Given the description of an element on the screen output the (x, y) to click on. 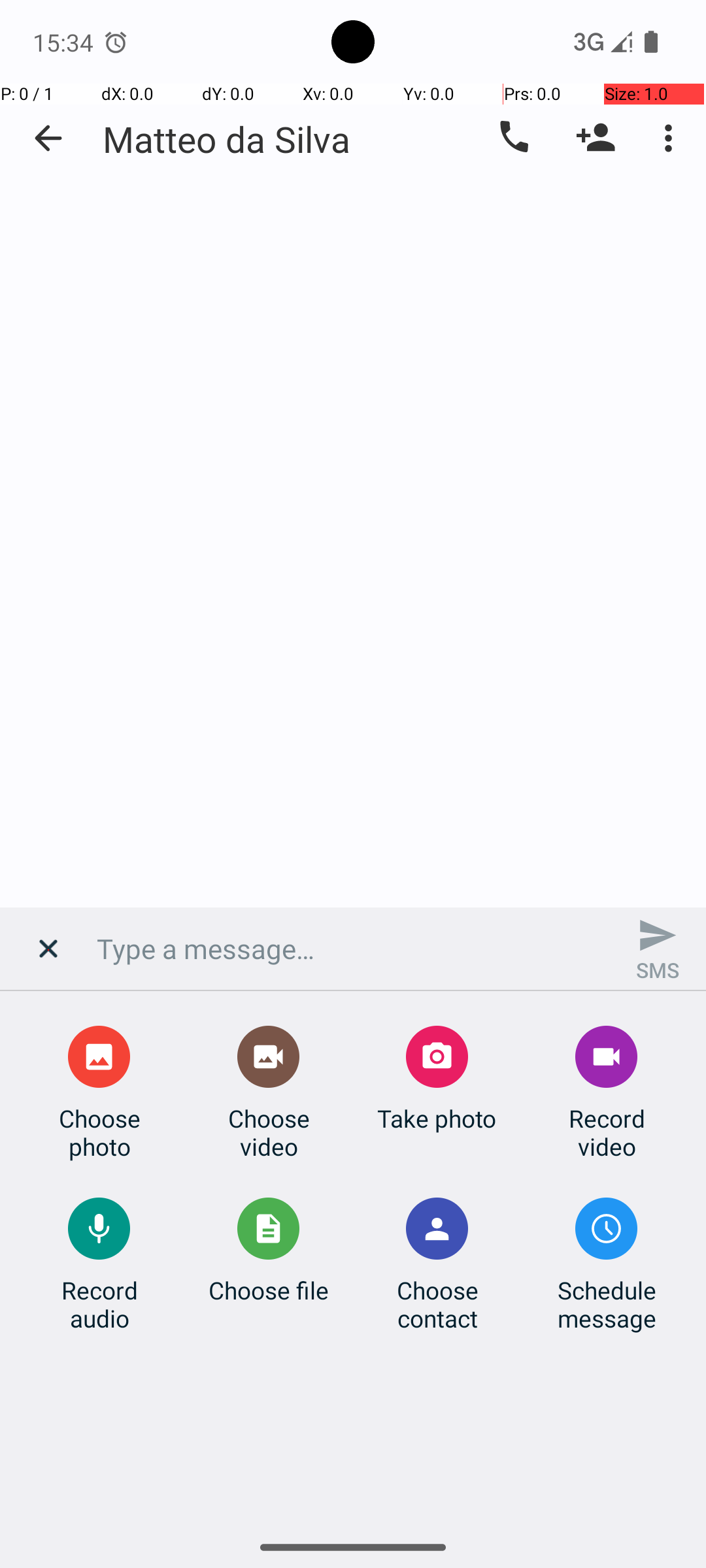
Matteo da Silva Element type: android.widget.TextView (226, 138)
